Given the description of an element on the screen output the (x, y) to click on. 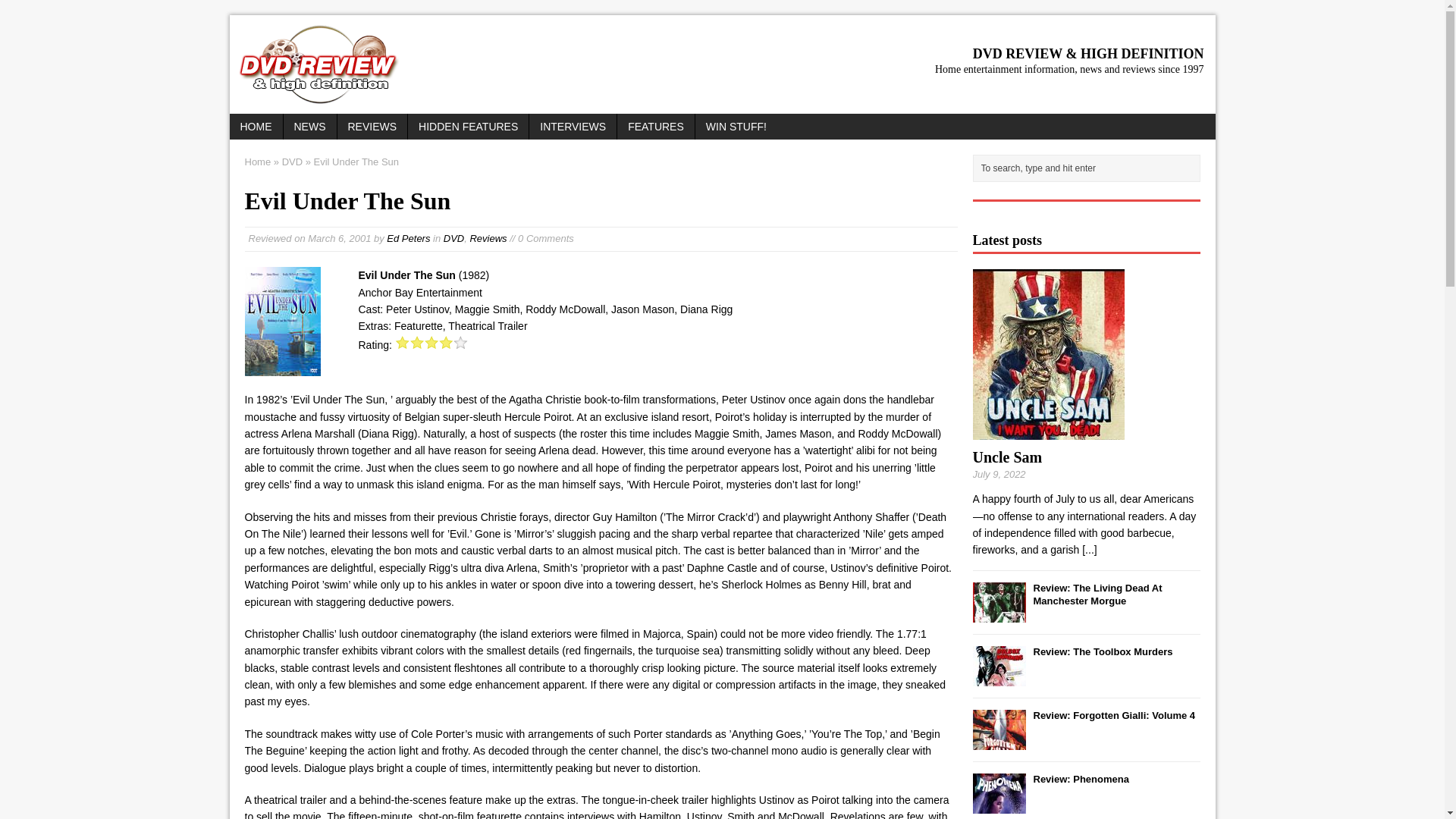
FEATURES (655, 126)
Review: The Toolbox Murders (1102, 651)
HOME (255, 126)
Uncle Sam (1007, 457)
0 (431, 341)
The Living Dead At Manchester Morgue (998, 613)
DVD (454, 238)
REVIEWS (371, 126)
Uncle Sam (1088, 549)
The Toolbox Murders (998, 677)
DVD (292, 161)
Reviews (487, 238)
HIDDEN FEATURES (467, 126)
NEWS (309, 126)
Review: The Living Dead At Manchester Morgue (1096, 594)
